Given the description of an element on the screen output the (x, y) to click on. 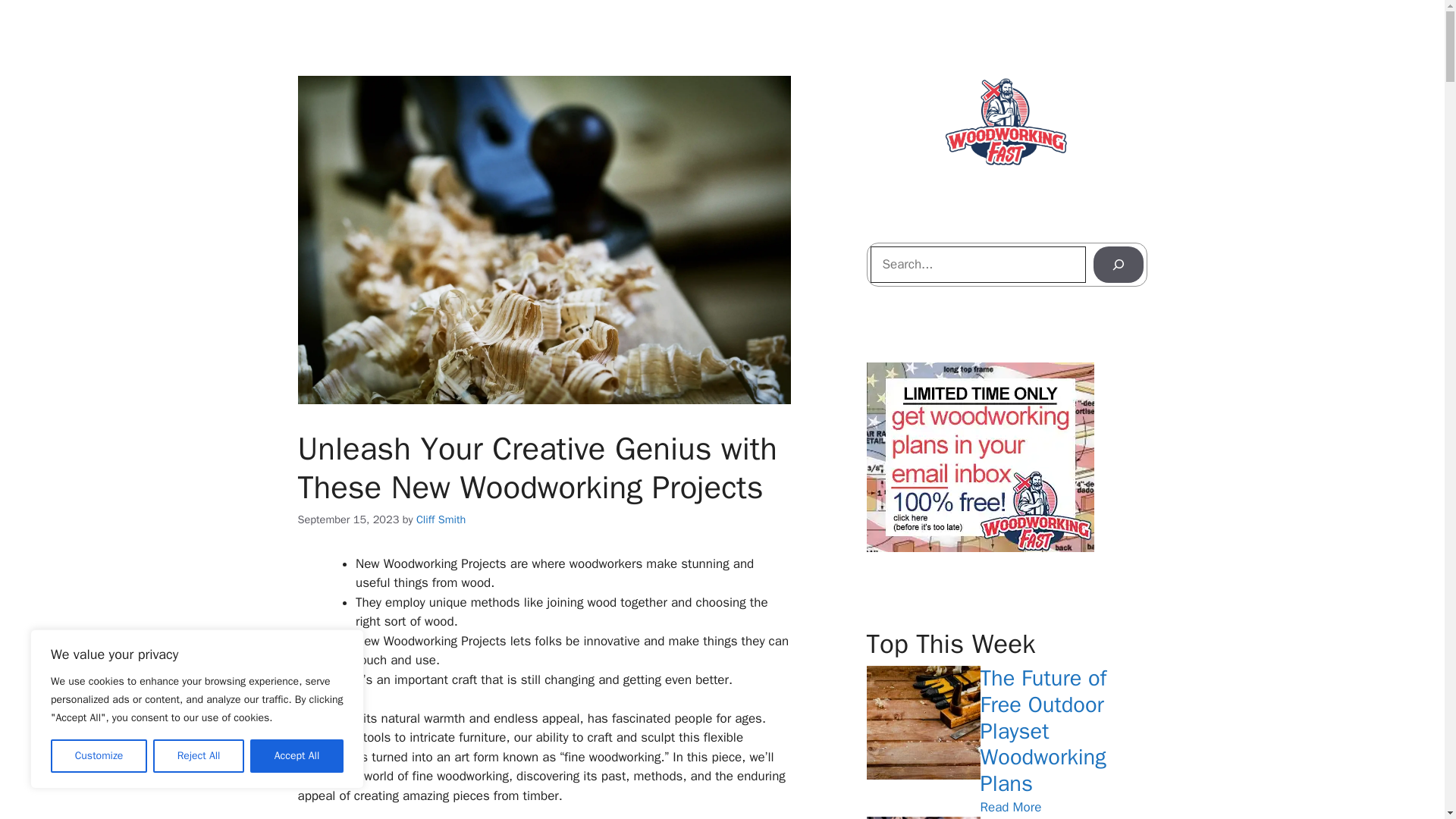
View all posts by Cliff Smith (440, 519)
Reject All (198, 756)
Cliff Smith (440, 519)
Accept All (296, 756)
Wood (313, 718)
Customize (98, 756)
